Given the description of an element on the screen output the (x, y) to click on. 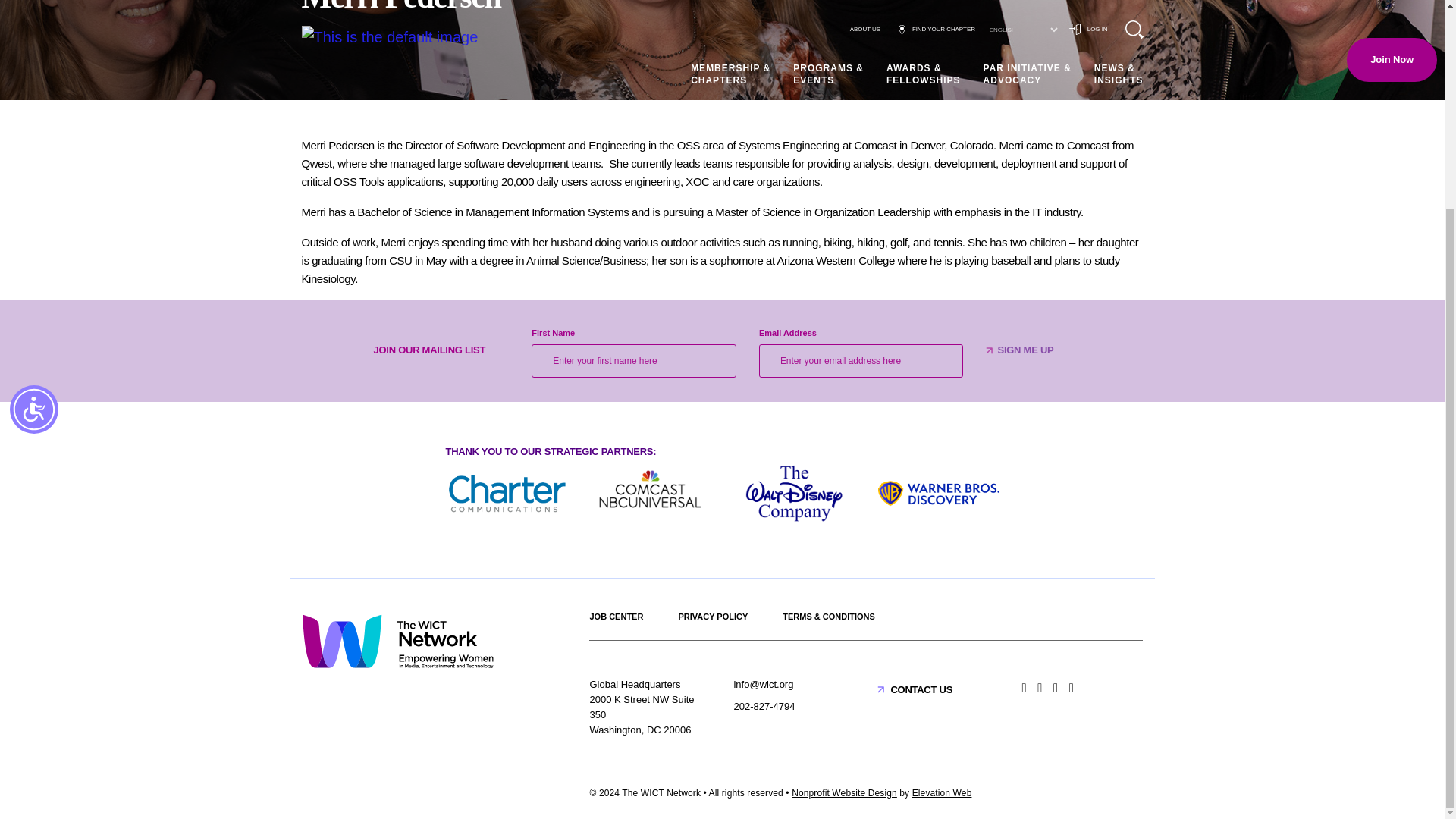
Accessibility Menu (34, 139)
Sign Me up (1024, 350)
